Given the description of an element on the screen output the (x, y) to click on. 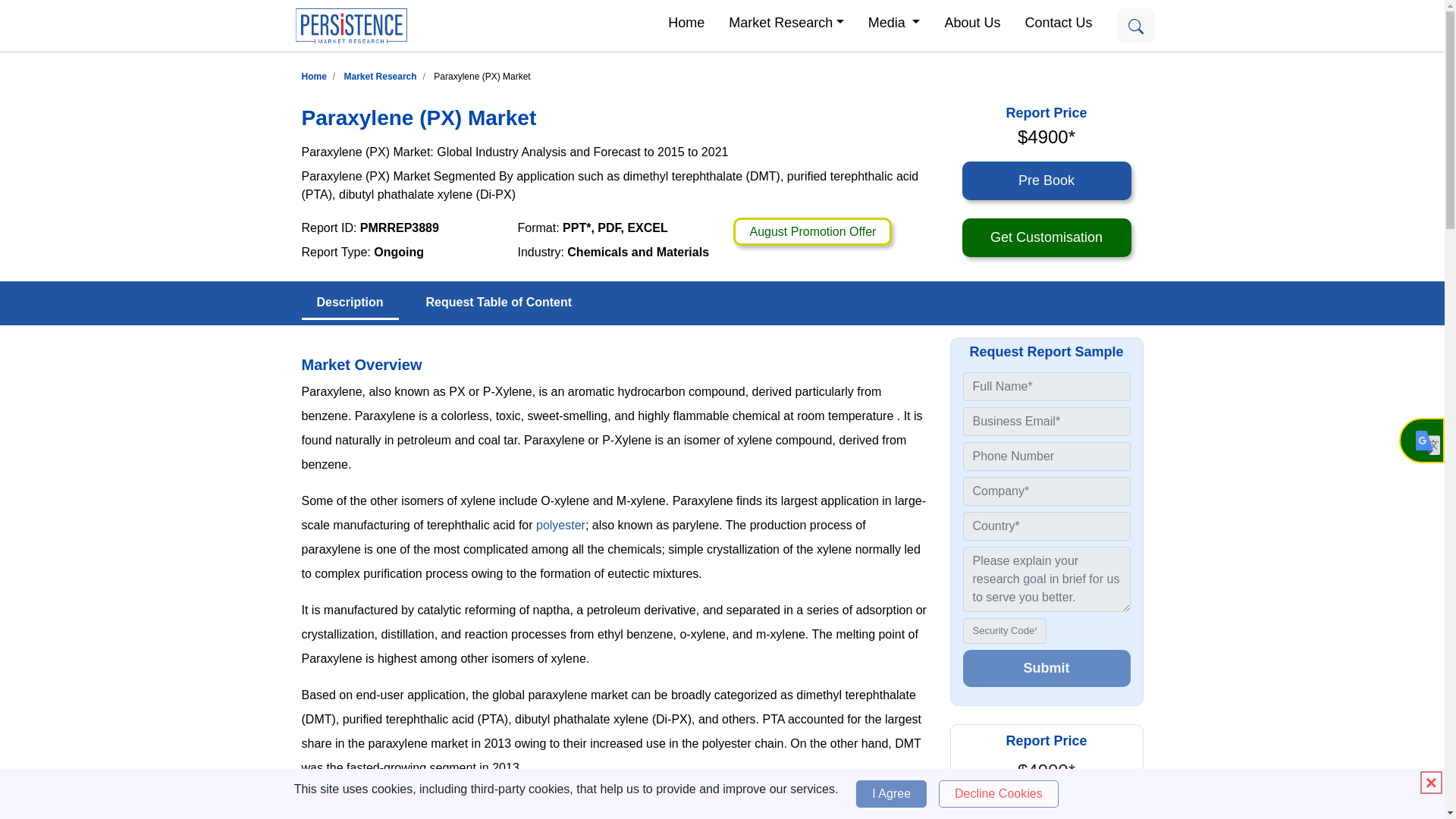
Pre Book (1046, 807)
polyester (560, 524)
About Us (971, 21)
Home (686, 21)
August Promotion Offer (812, 231)
Market Research (379, 76)
Search (1135, 25)
Description (349, 303)
Contact Us (1057, 21)
Contact Us (1057, 21)
Home (313, 76)
About Us (971, 21)
Get Customisation (1045, 237)
Media (894, 21)
Market Research (786, 21)
